Given the description of an element on the screen output the (x, y) to click on. 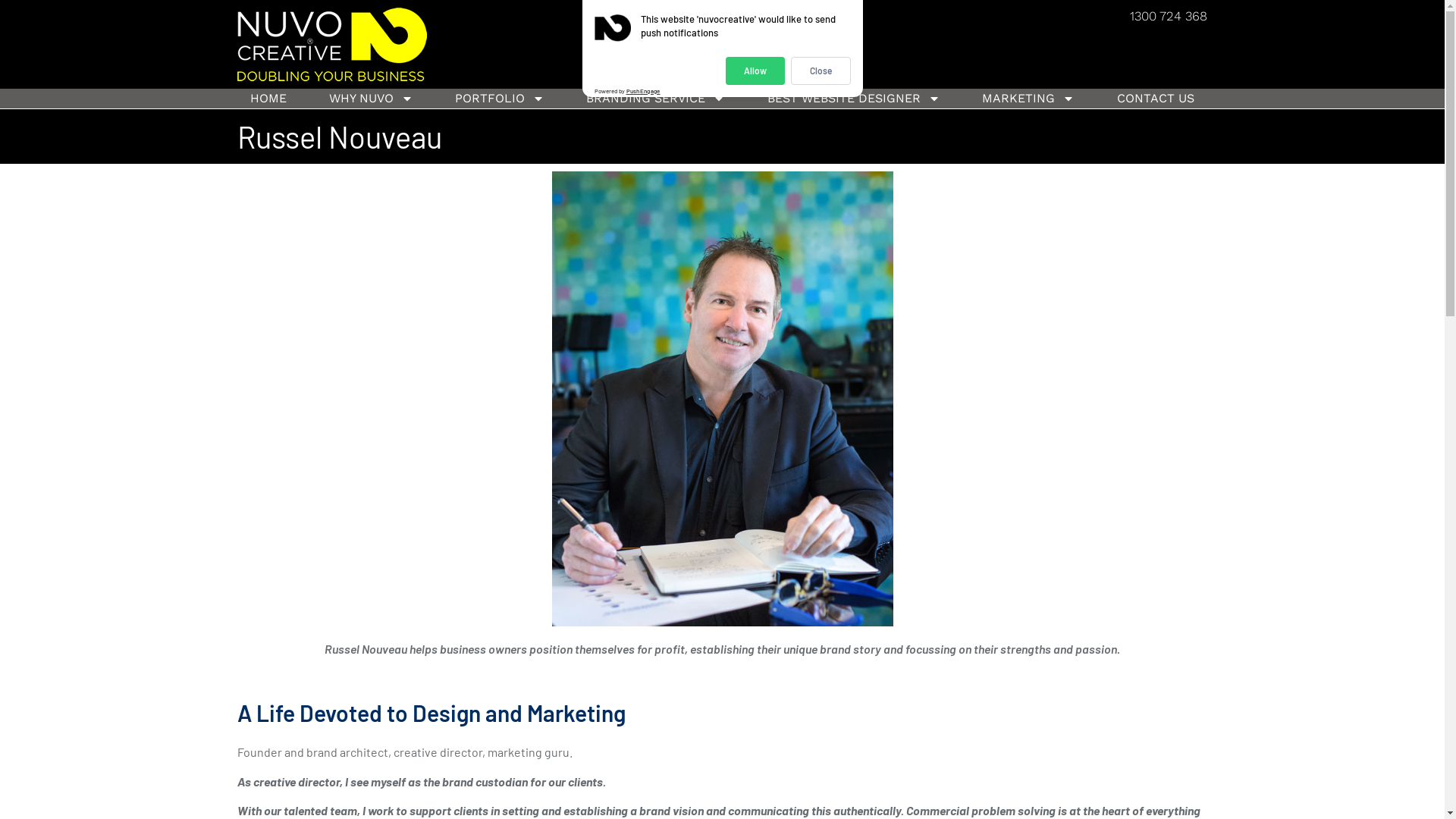
BEST WEBSITE DESIGNER Element type: text (853, 98)
WHY NUVO Element type: text (370, 98)
CONTACT US Element type: text (1154, 98)
PORTFOLIO Element type: text (498, 98)
BRANDING SERVICE Element type: text (655, 98)
MARKETING Element type: text (1028, 98)
HOME Element type: text (268, 98)
